Given the description of an element on the screen output the (x, y) to click on. 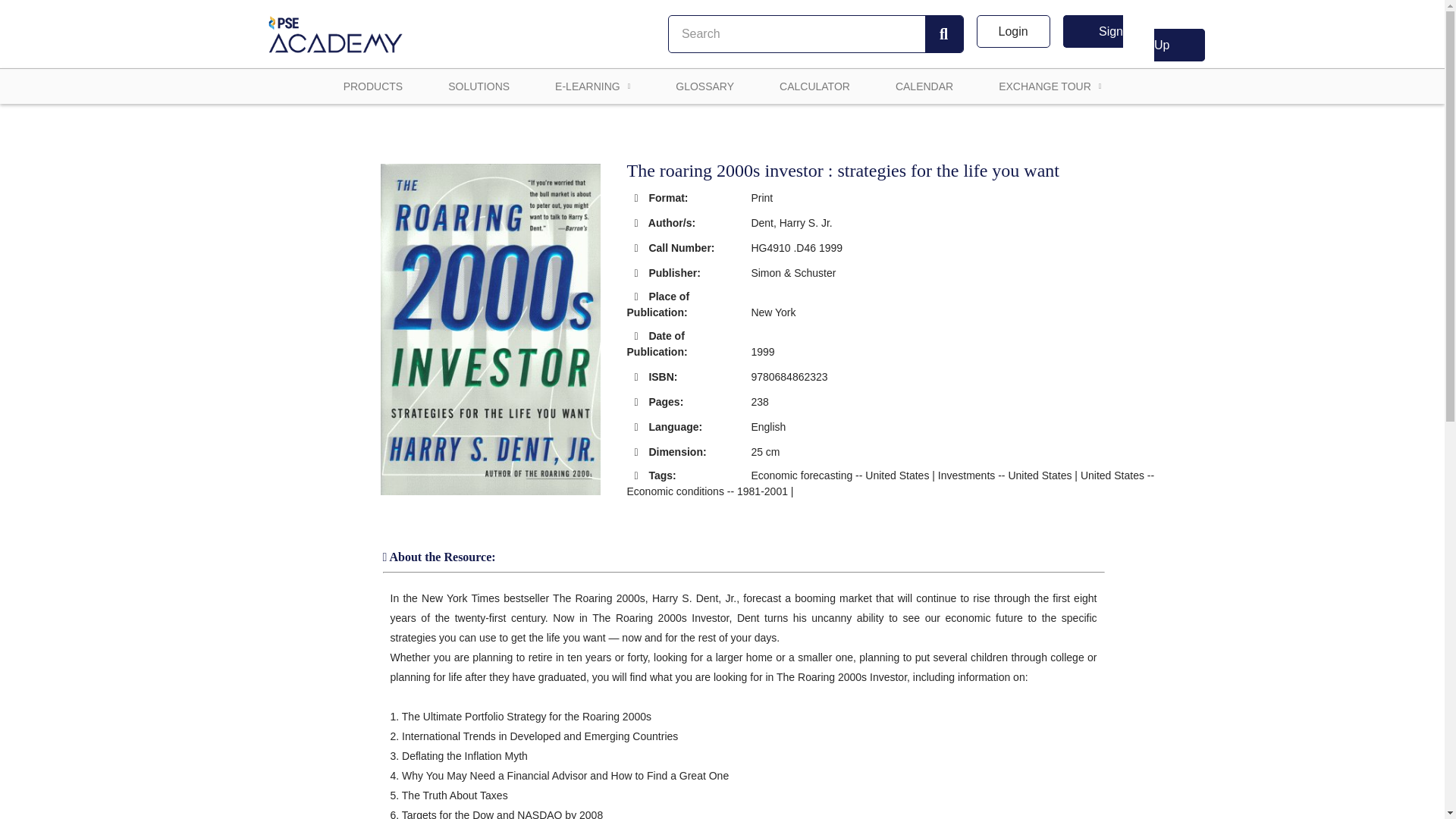
Search (943, 33)
GLOSSARY (704, 86)
Sign Up (1133, 38)
Login (1012, 31)
E-LEARNING (592, 86)
Search (796, 33)
CALENDAR (923, 86)
SOLUTIONS (478, 86)
PRODUCTS (373, 86)
CALCULATOR (814, 86)
EXCHANGE TOUR (1049, 86)
